Given the description of an element on the screen output the (x, y) to click on. 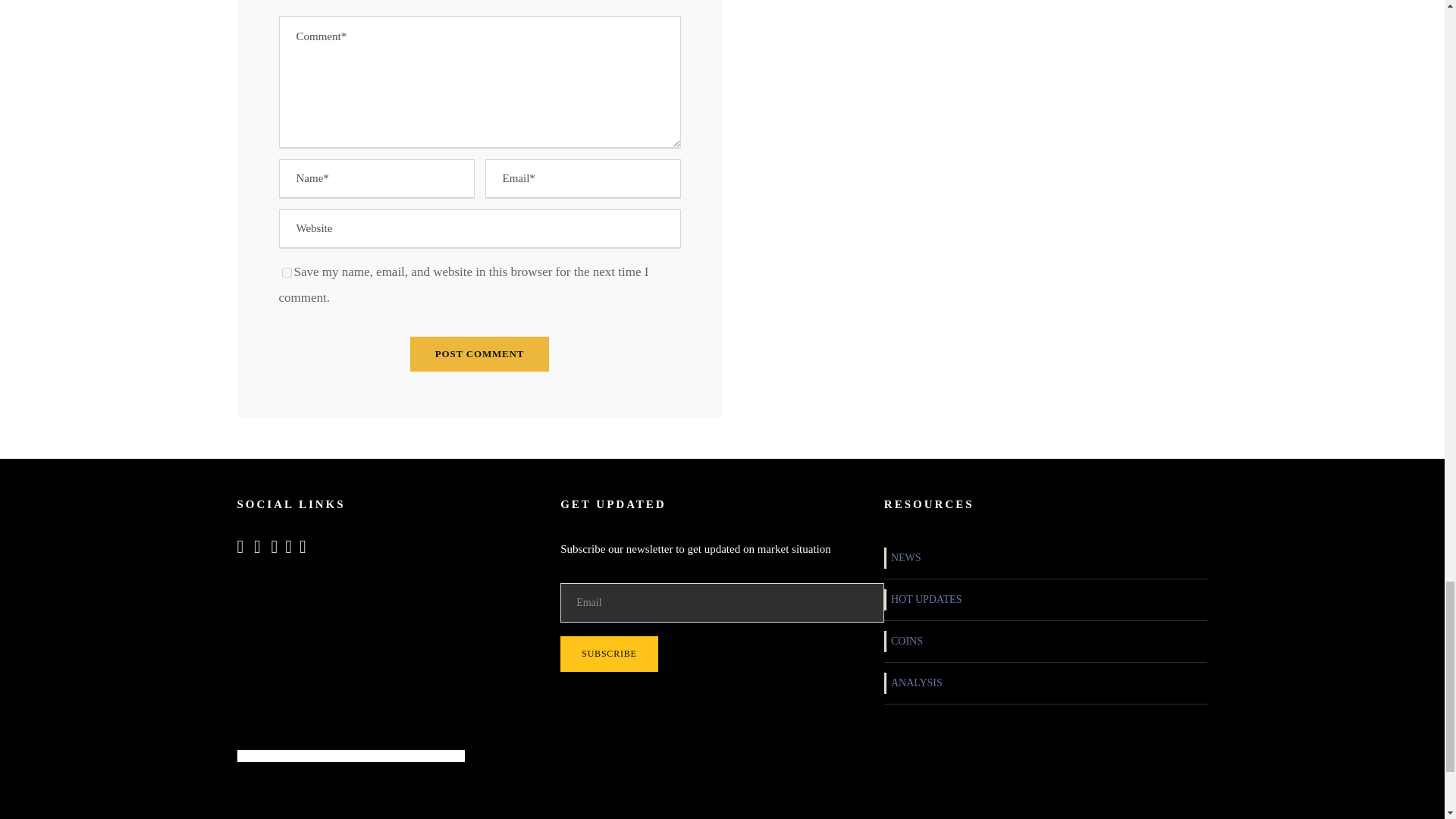
Subscribe (609, 653)
yes (287, 272)
Post Comment (479, 353)
